Given the description of an element on the screen output the (x, y) to click on. 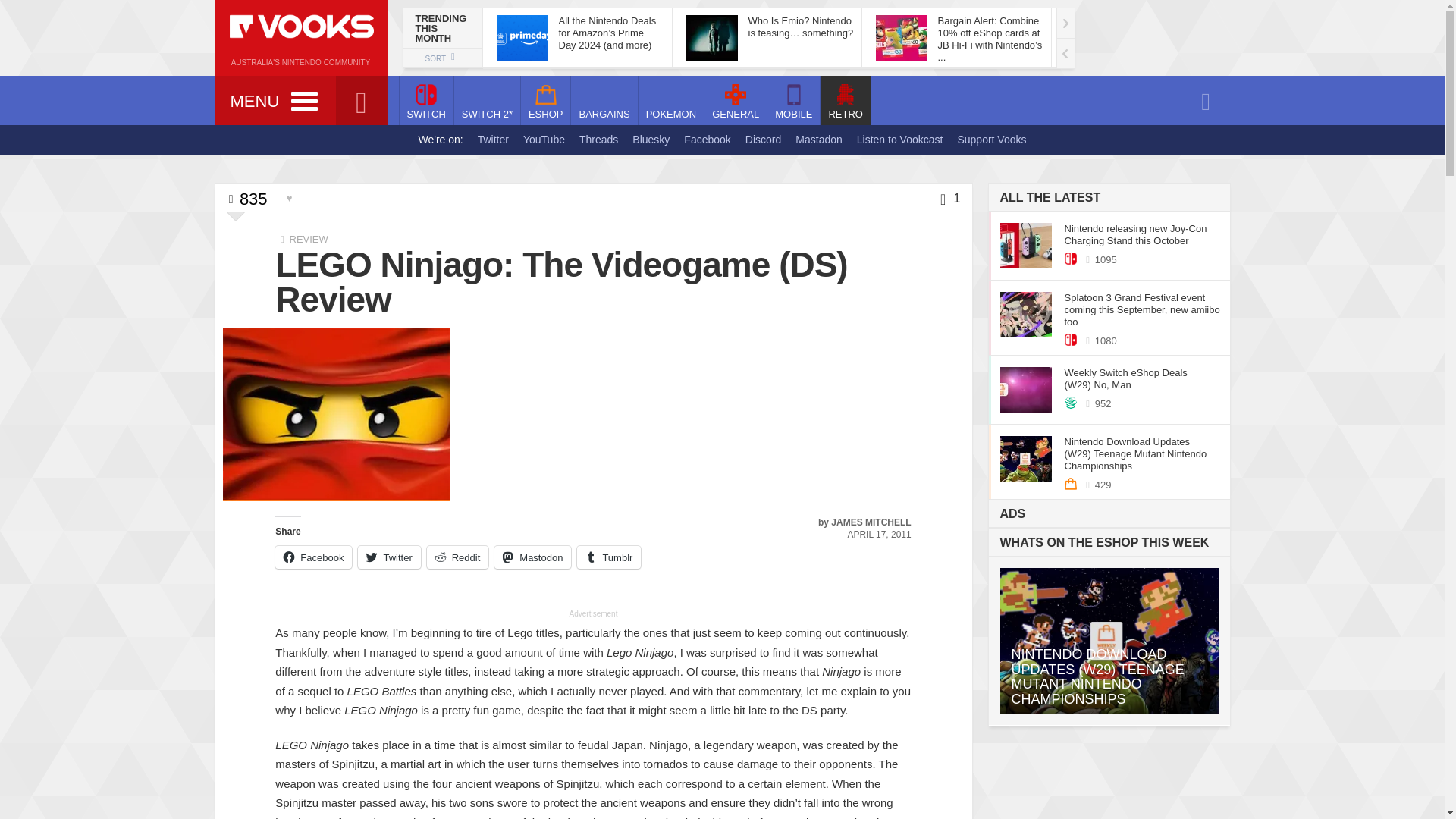
Nintendo World Championships: NES Edition Review (1090, 37)
SWITCH (425, 100)
